Given the description of an element on the screen output the (x, y) to click on. 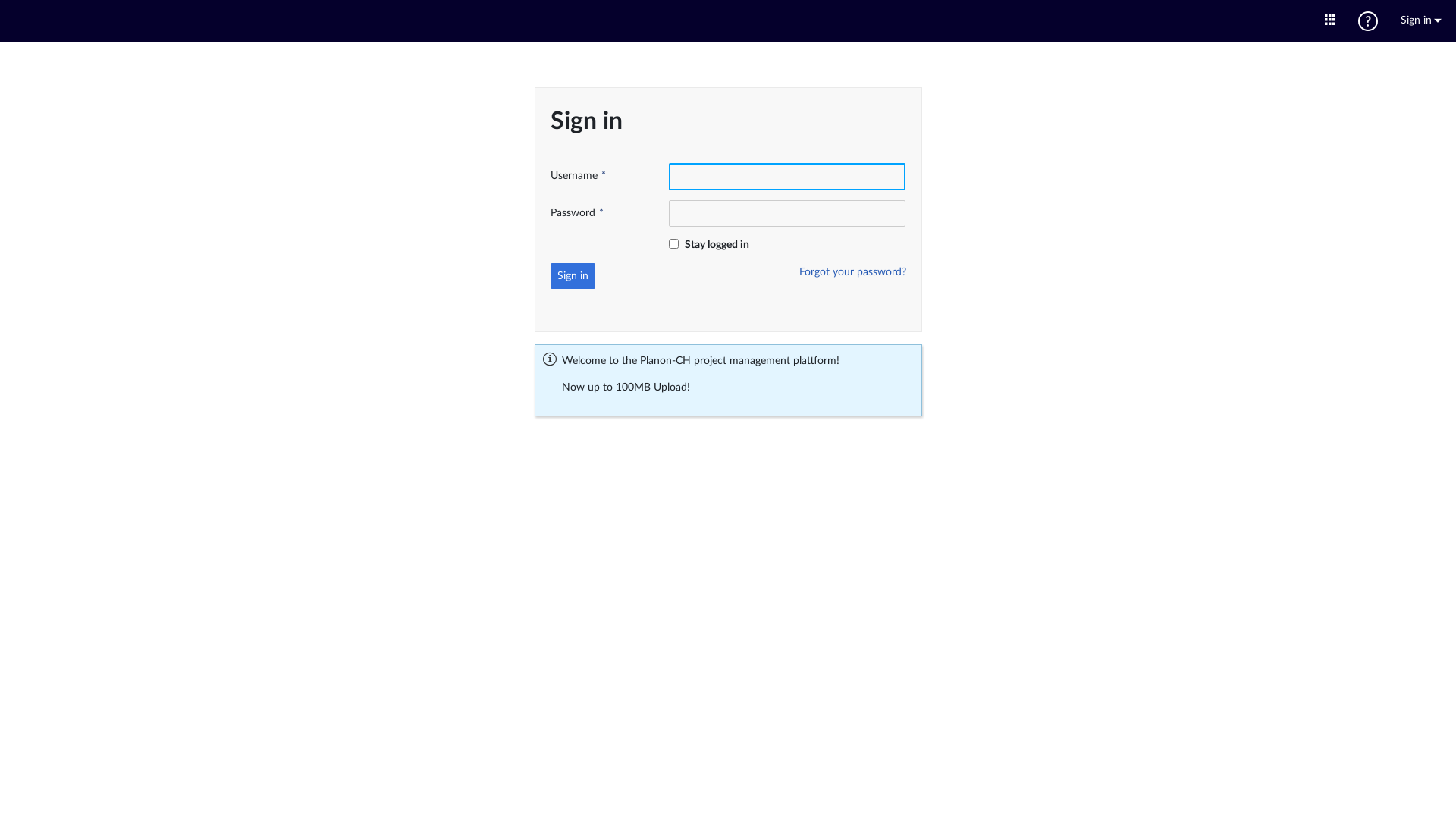
Help Element type: hover (1367, 20)
Modules Element type: hover (1329, 20)
Sign in Element type: text (572, 275)
Home Element type: text (727, 20)
Sign in Element type: text (1420, 20)
Forgot your password? Element type: text (852, 271)
